Given the description of an element on the screen output the (x, y) to click on. 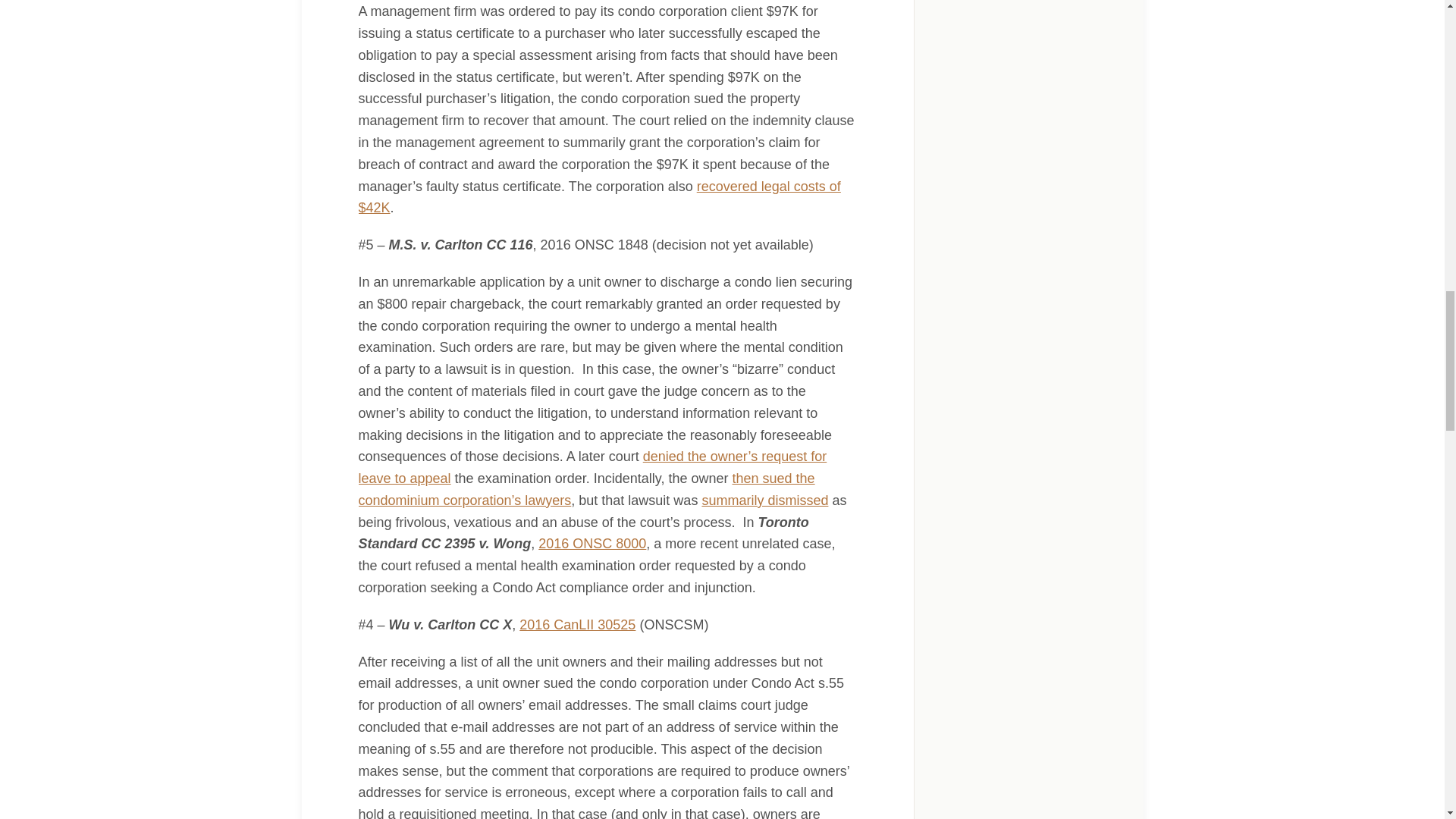
2016 CanLII 30525 (576, 624)
2016 ONSC 8000 (592, 543)
summarily dismissed (764, 500)
